Given the description of an element on the screen output the (x, y) to click on. 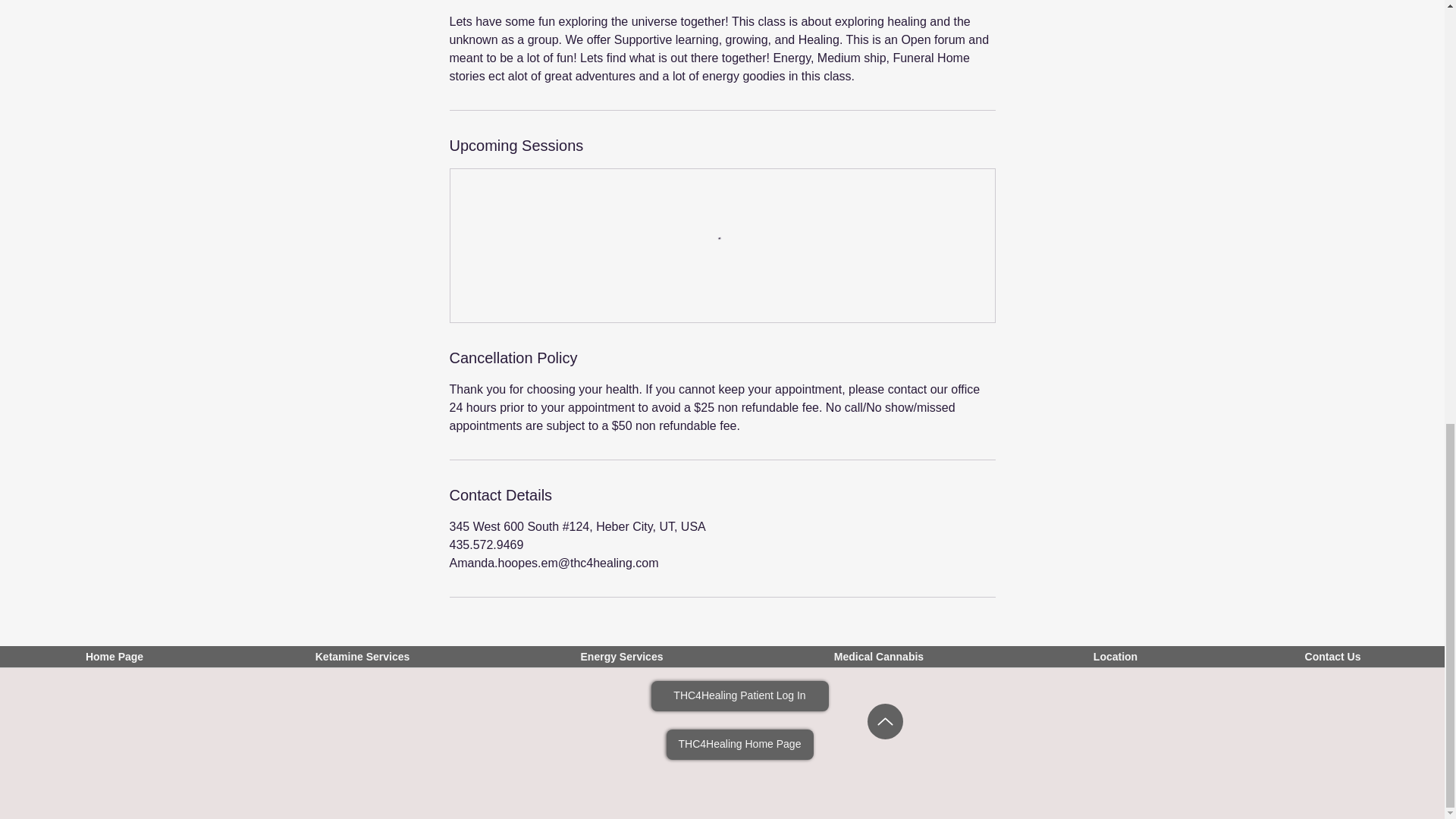
Home Page (114, 661)
Energy Services (622, 661)
Ketamine Services (362, 661)
Location (1115, 661)
Medical Cannabis (879, 661)
